Given the description of an element on the screen output the (x, y) to click on. 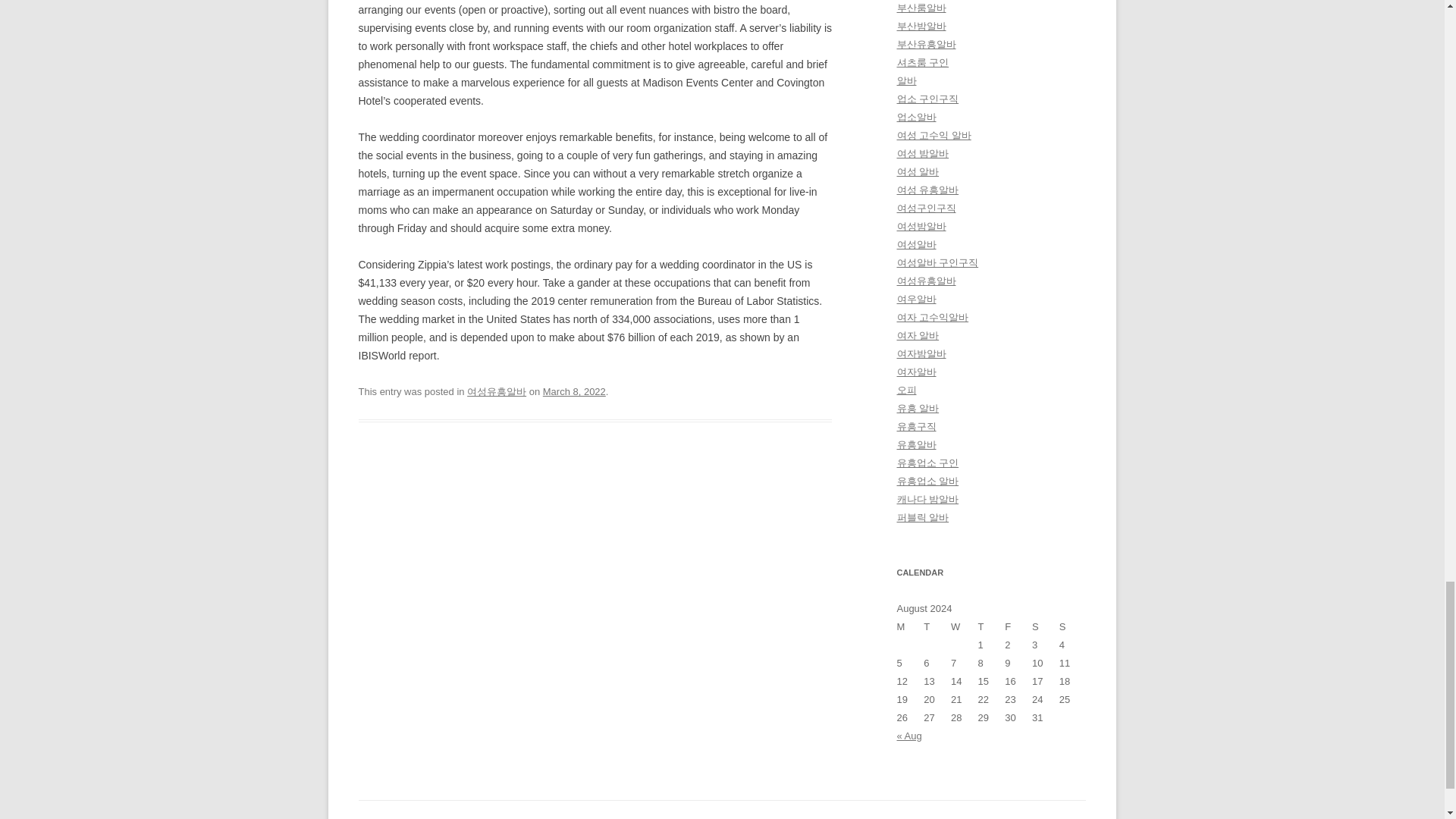
Monday (909, 627)
2:08 pm (574, 391)
Sunday (1072, 627)
Thursday (992, 627)
Tuesday (936, 627)
Saturday (1045, 627)
Wednesday (964, 627)
March 8, 2022 (574, 391)
Friday (1018, 627)
